Given the description of an element on the screen output the (x, y) to click on. 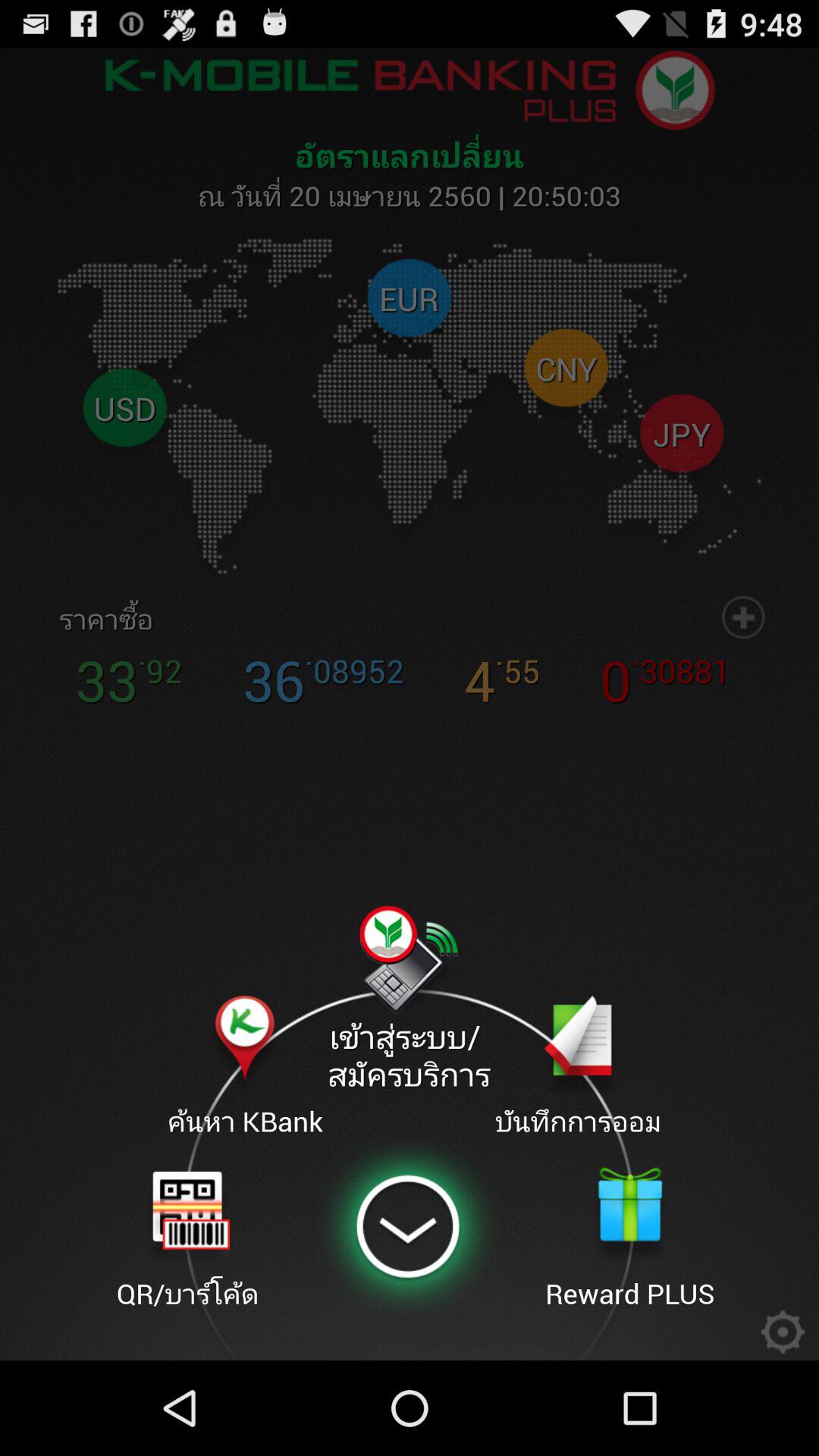
launch the icon above the reward plus (577, 1067)
